Given the description of an element on the screen output the (x, y) to click on. 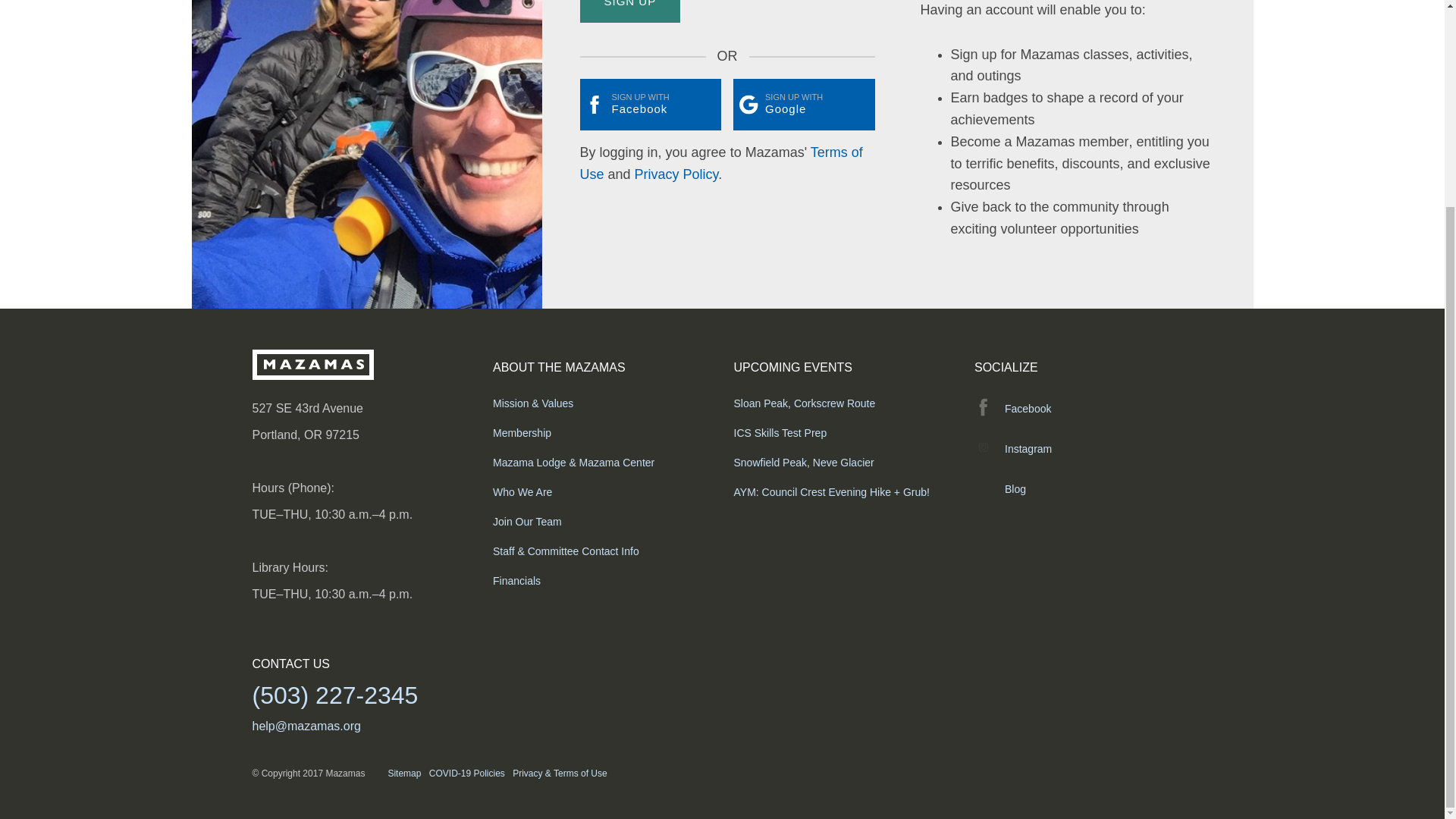
Sloan Peak, Corkscrew Route (842, 403)
Sitemap (403, 773)
Terms of Use (720, 162)
Join Our Team (602, 521)
Financials (602, 580)
Facebook (1083, 408)
Sign Up (629, 11)
Sign Up (629, 11)
Privacy Policy (676, 174)
COVID-19 Policies (467, 773)
Membership (602, 432)
Instagram (1083, 448)
ICS Skills Test Prep (649, 104)
Mazamas Logo Icon Icon of Mazamas text with a border. (842, 432)
